Given the description of an element on the screen output the (x, y) to click on. 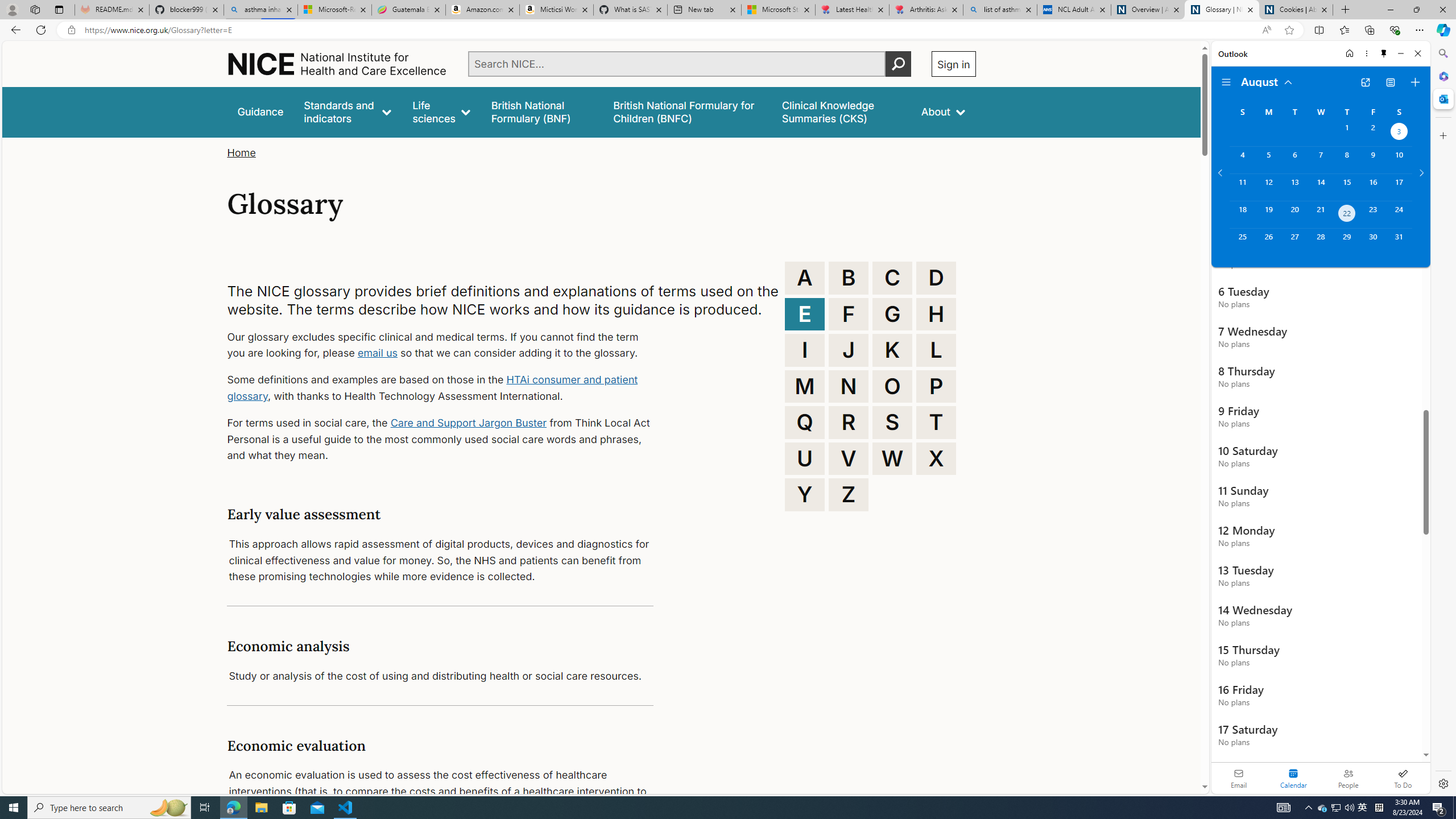
Restore (1416, 9)
Life sciences (440, 111)
Thursday, August 8, 2024.  (1346, 159)
About (942, 111)
Home (241, 152)
Unpin side pane (1383, 53)
Wednesday, August 7, 2024.  (1320, 159)
Settings (1442, 783)
R (848, 422)
Thursday, August 22, 2024. Today.  (1346, 214)
People (1347, 777)
Care and Support Jargon Buster (468, 422)
